Given the description of an element on the screen output the (x, y) to click on. 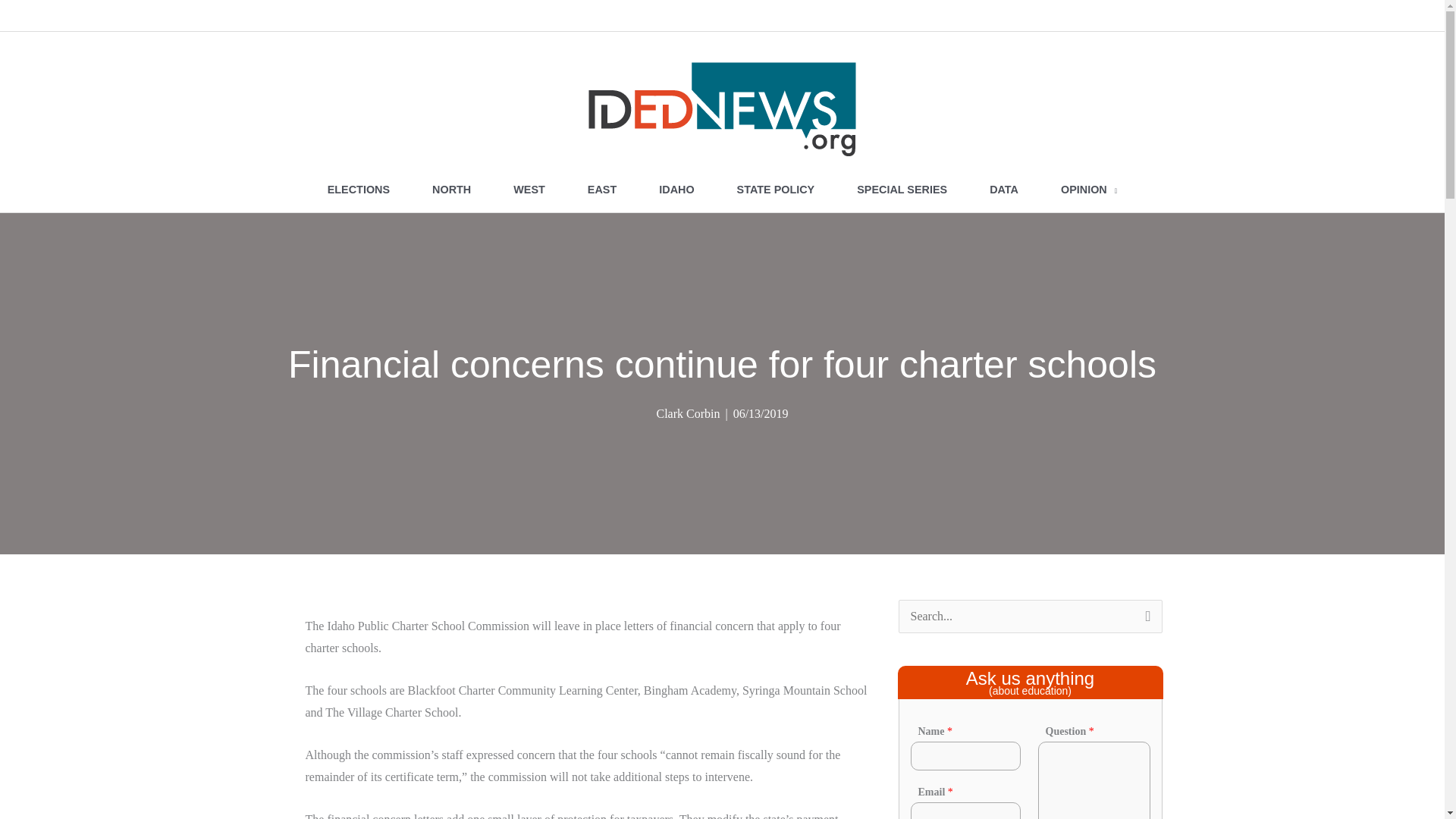
Clark Corbin (687, 413)
EAST (601, 190)
WEST (529, 190)
IDAHO (675, 190)
NORTH (451, 190)
ELECTIONS (357, 190)
STATE POLICY (775, 190)
SPECIAL SERIES (901, 190)
OPINION (1088, 190)
DATA (1003, 190)
